Given the description of an element on the screen output the (x, y) to click on. 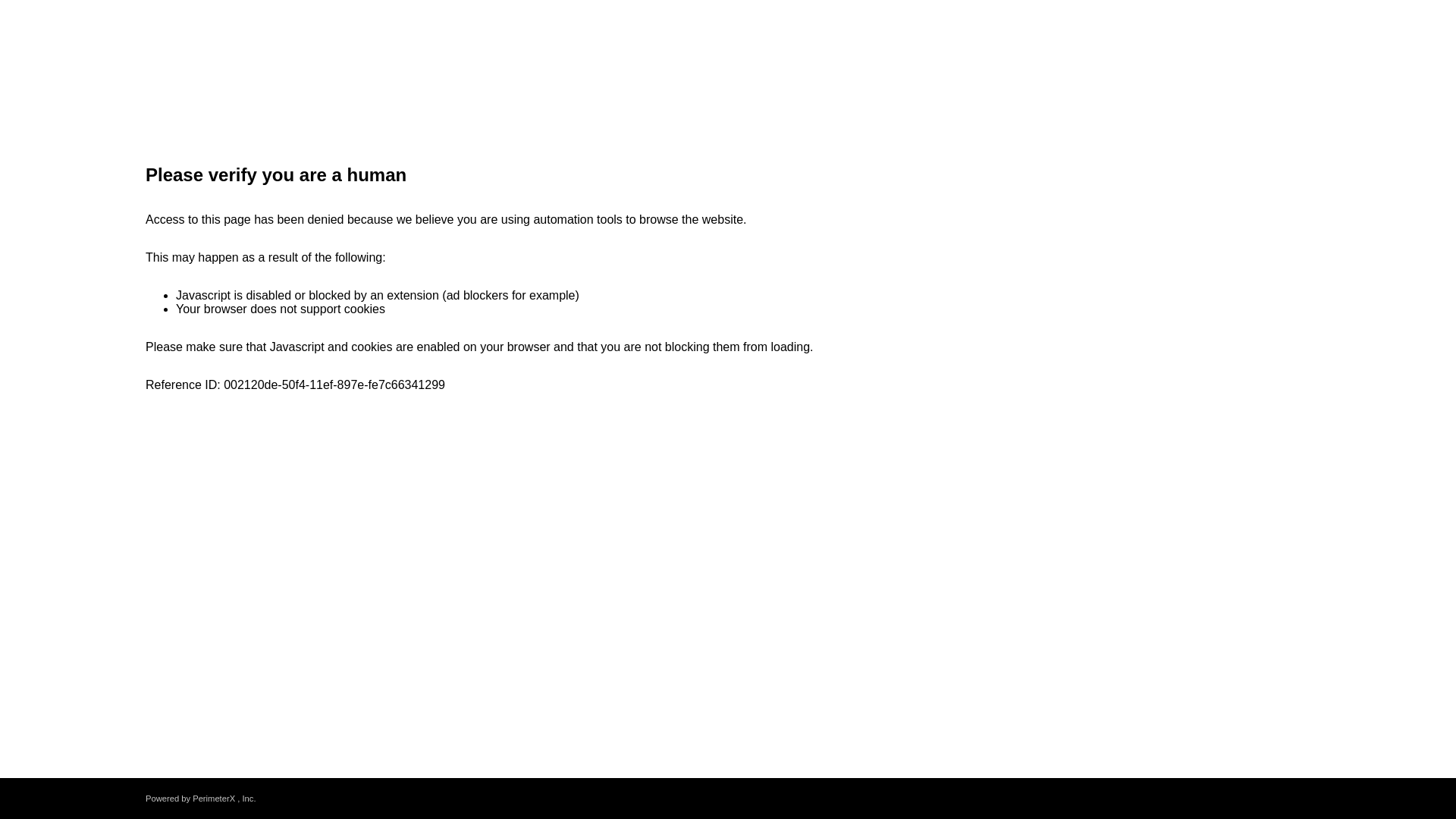
PerimeterX (213, 798)
